Given the description of an element on the screen output the (x, y) to click on. 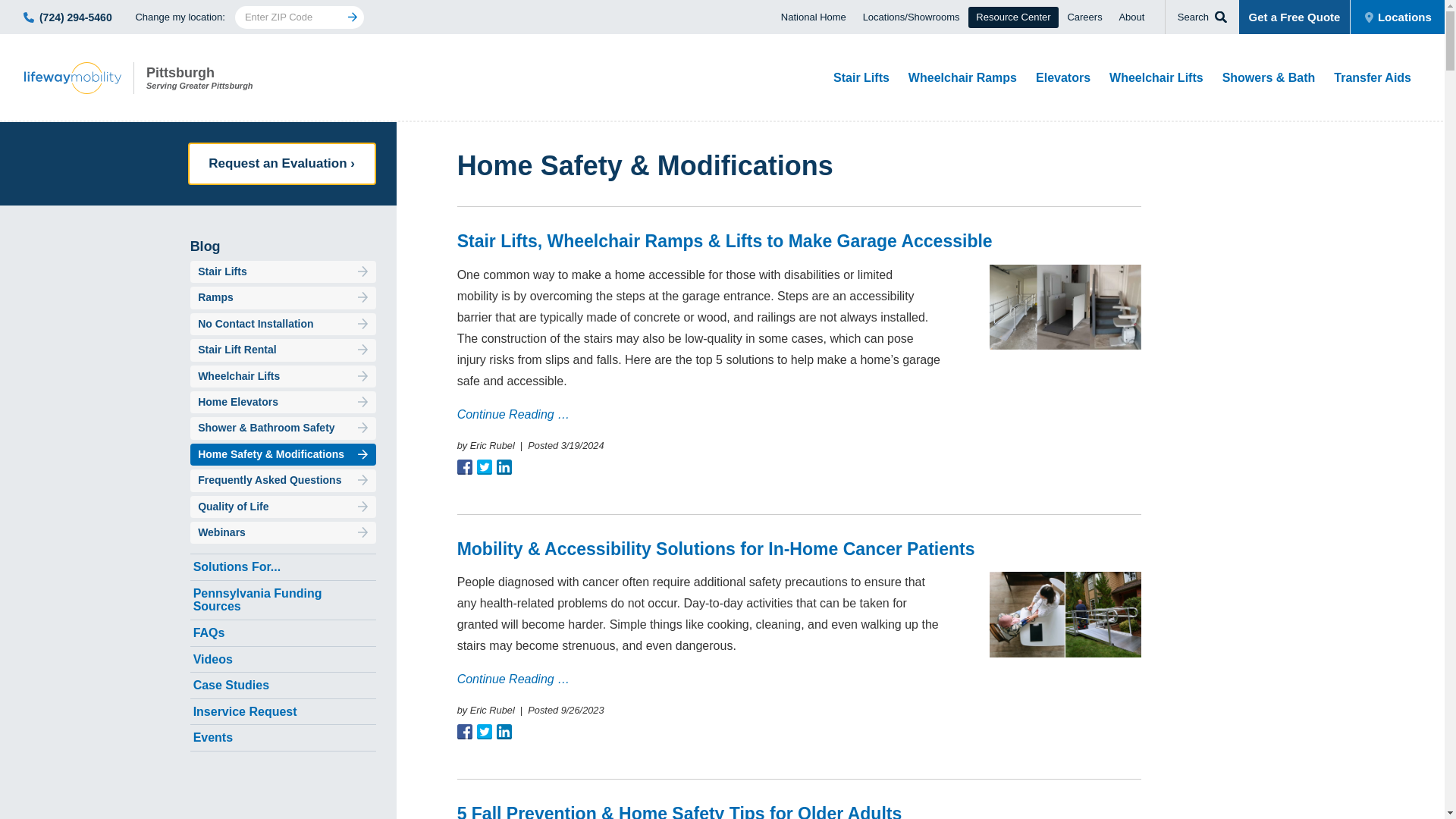
Lifeway Mobility (172, 78)
Transfer Aids (1372, 77)
Elevators (172, 78)
Share on Facebook (1062, 77)
Share on Facebook (464, 731)
Wheelchair Lifts (464, 467)
Share on LinkedIn (1156, 77)
Share on Twitter (504, 467)
Share on Twitter (484, 467)
Stair Lifts (484, 731)
Wheelchair Ramps (861, 77)
Share on LinkedIn (962, 77)
